Given the description of an element on the screen output the (x, y) to click on. 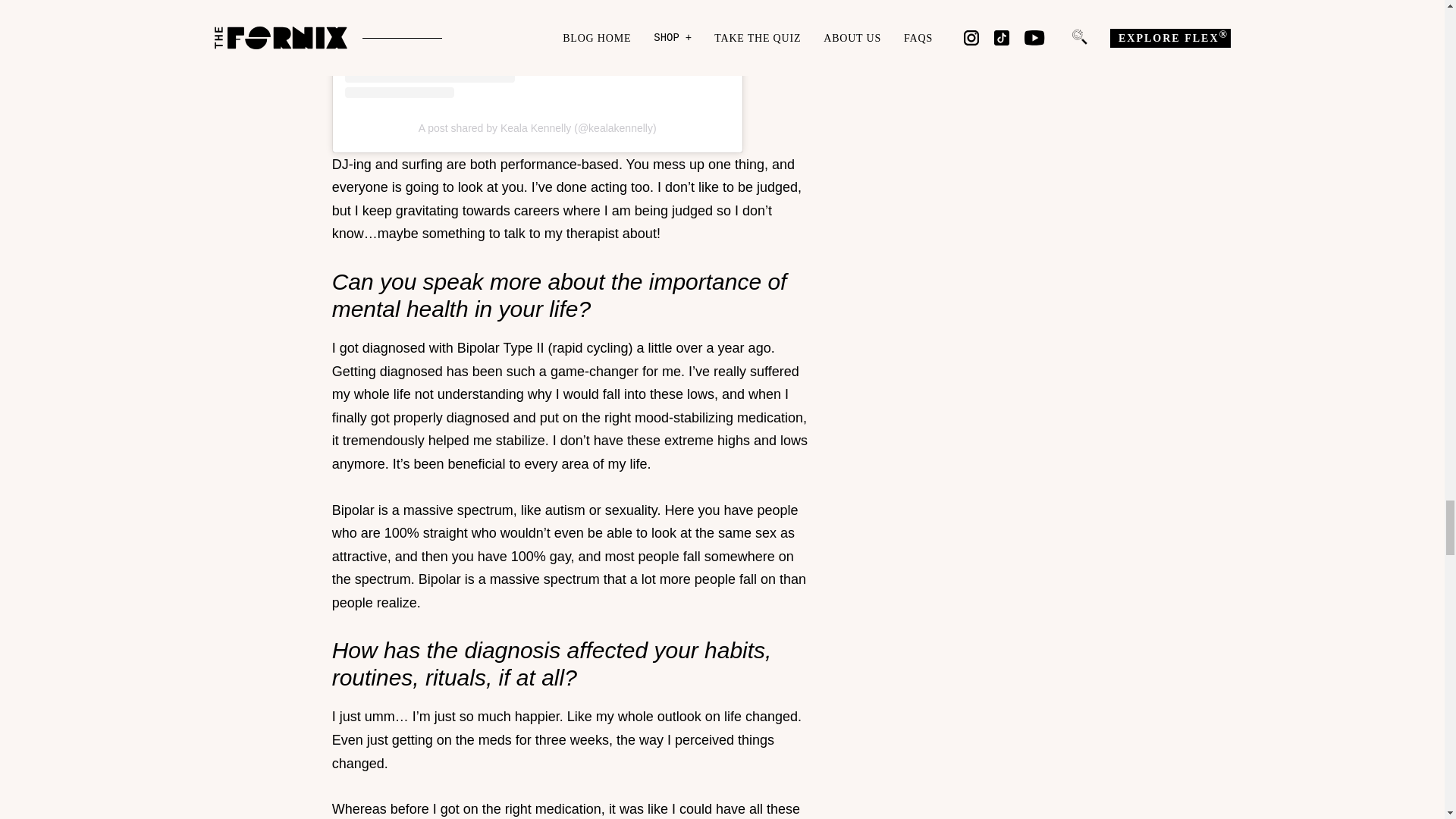
View this post on Instagram (537, 48)
